Given the description of an element on the screen output the (x, y) to click on. 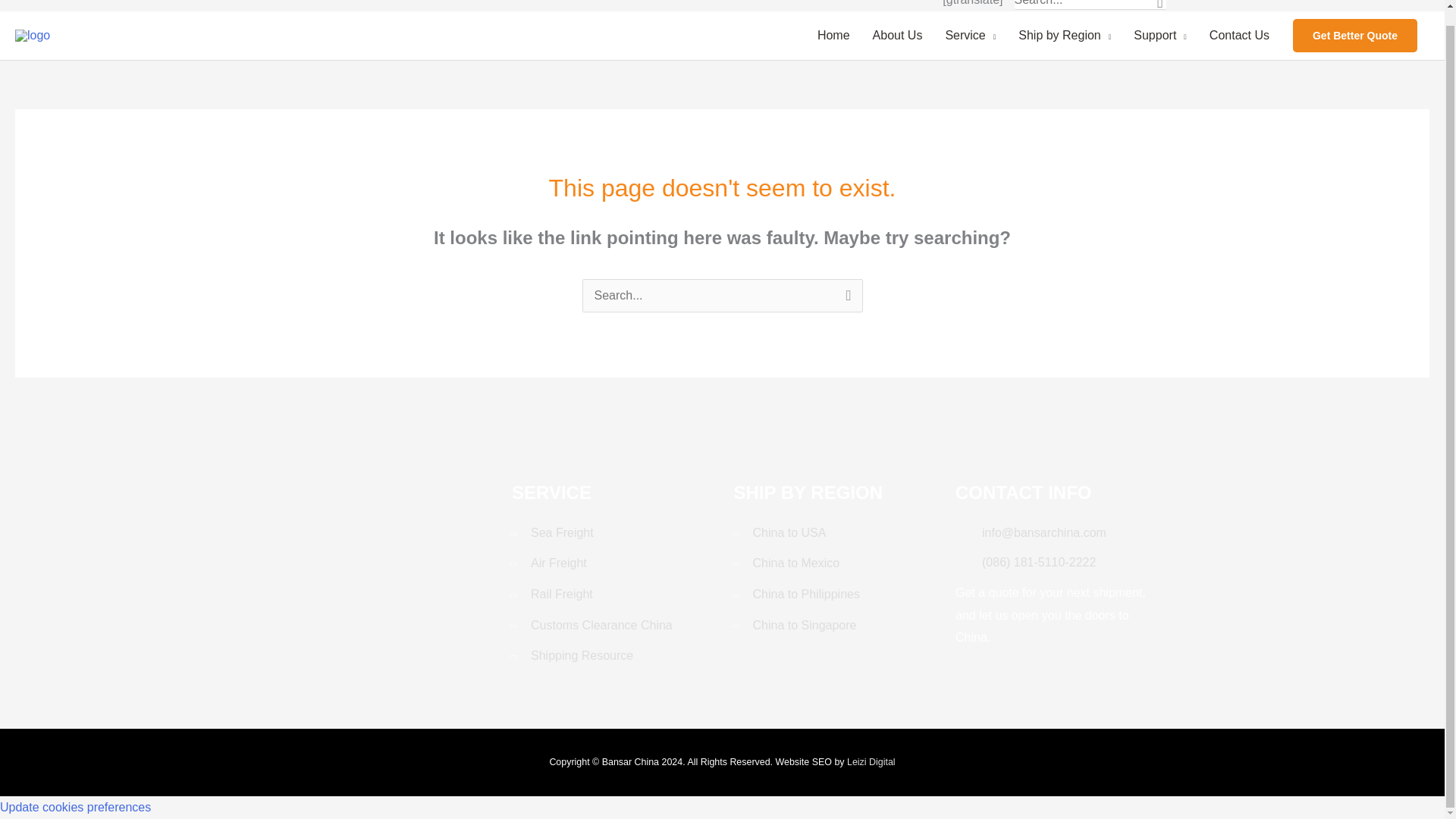
Search (844, 300)
Search (844, 300)
About Us (897, 35)
Home (833, 35)
Service (970, 35)
Ship by Region (1064, 35)
Search (1160, 4)
